Given the description of an element on the screen output the (x, y) to click on. 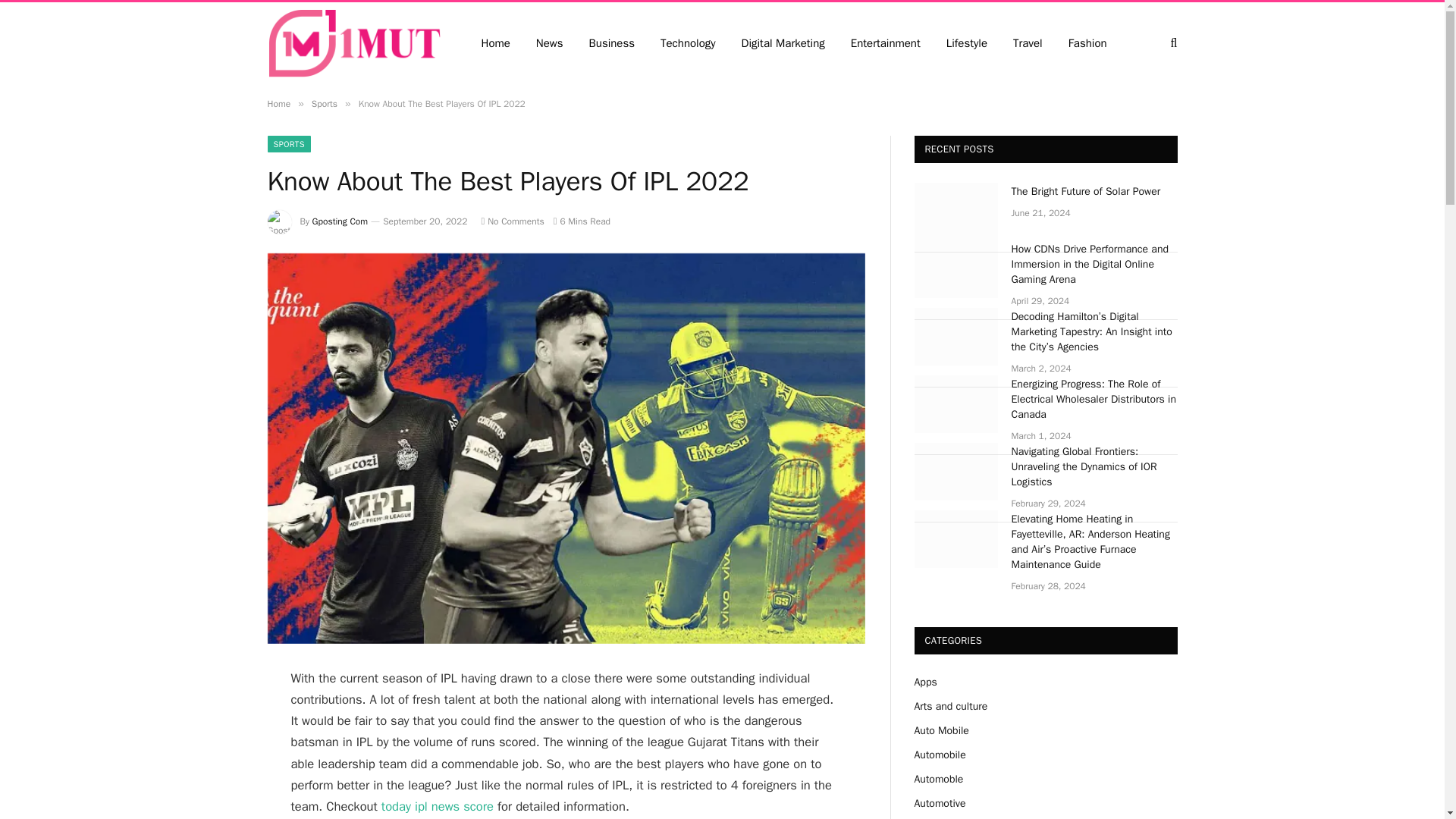
The Bright Future of Solar Power (955, 211)
Entertainment (885, 42)
Sports (324, 103)
Technology (688, 42)
Digital Marketing (783, 42)
today ipl news score (437, 806)
SPORTS (288, 143)
Gposting Com (340, 221)
Home (277, 103)
Posts by Gposting Com (340, 221)
The Bright Future of Solar Power (1094, 191)
1mut (353, 43)
No Comments (511, 221)
